Given the description of an element on the screen output the (x, y) to click on. 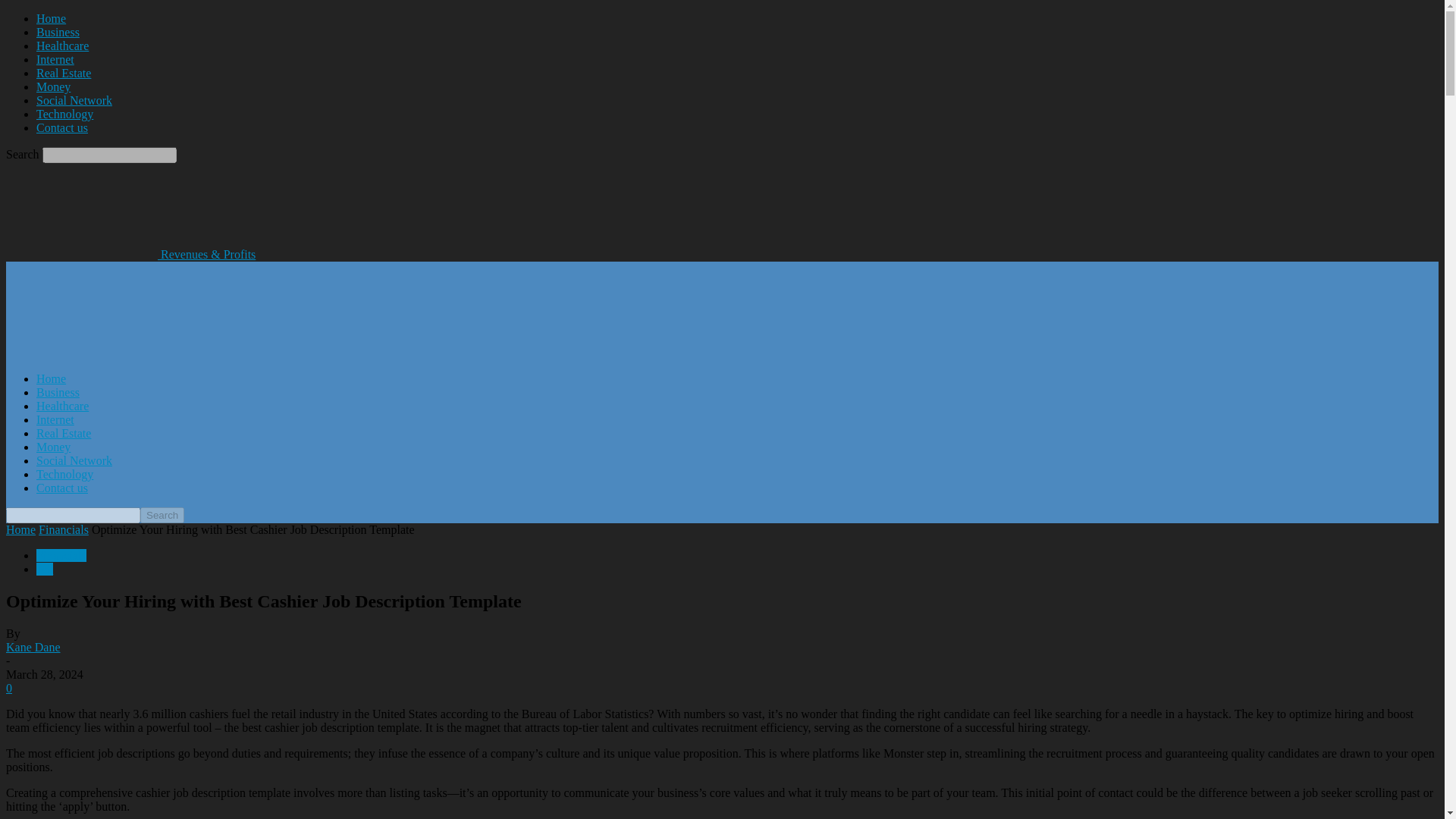
Financials (63, 529)
Technology (64, 113)
Internet (55, 419)
Financials (60, 554)
Money (52, 86)
View all posts in Financials (63, 529)
Business (58, 391)
Home (50, 18)
Business (58, 31)
Home (19, 529)
Money (52, 446)
Search (161, 514)
Technology (64, 473)
Social Network (74, 460)
Job (44, 568)
